Given the description of an element on the screen output the (x, y) to click on. 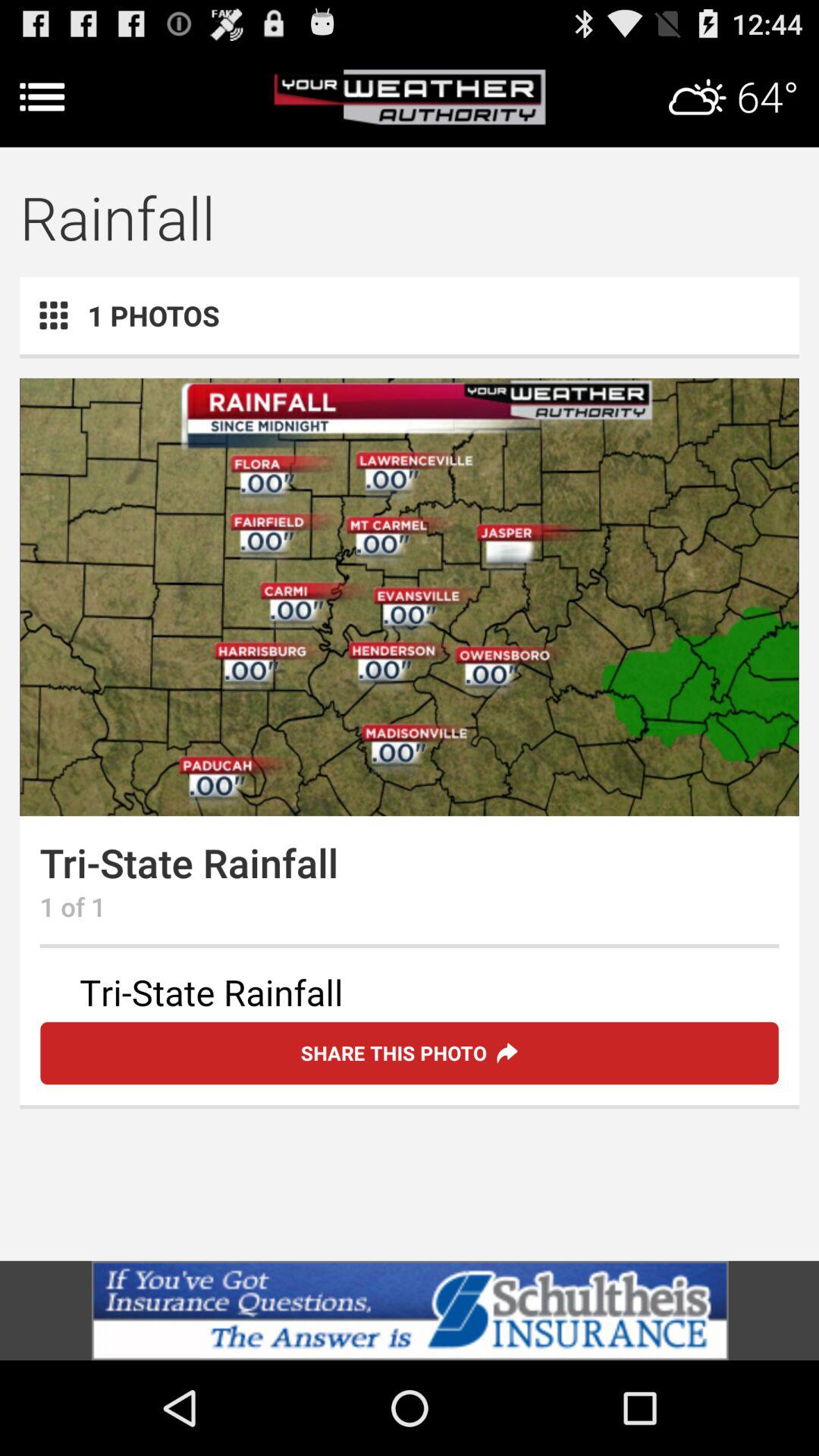
click discription (409, 994)
